Given the description of an element on the screen output the (x, y) to click on. 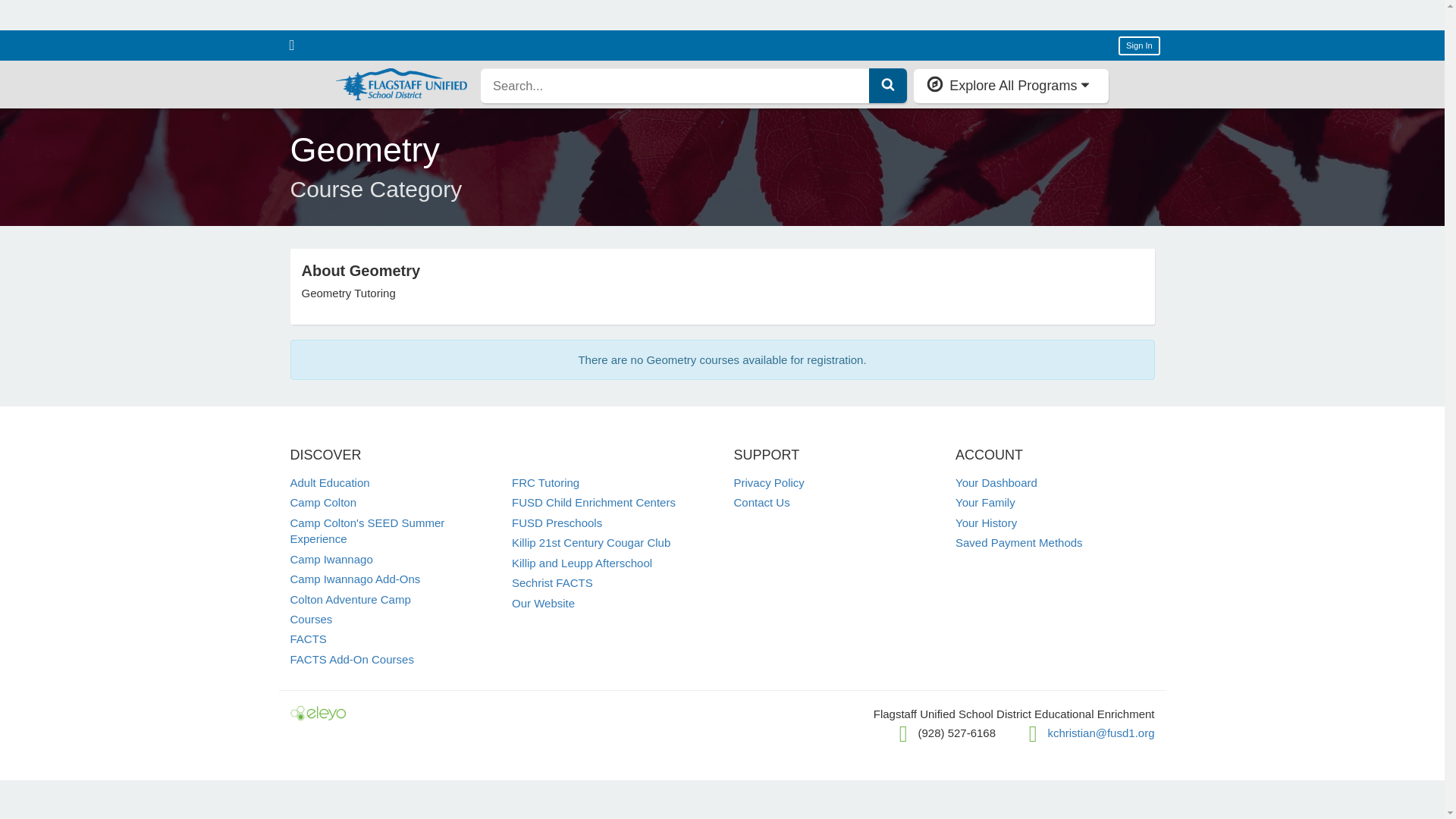
 Search Icon (887, 83)
 Compass Icon (934, 84)
Sign In (1139, 45)
 Caret Down Icon (1085, 84)
Explore All Programs (1011, 85)
